Given the description of an element on the screen output the (x, y) to click on. 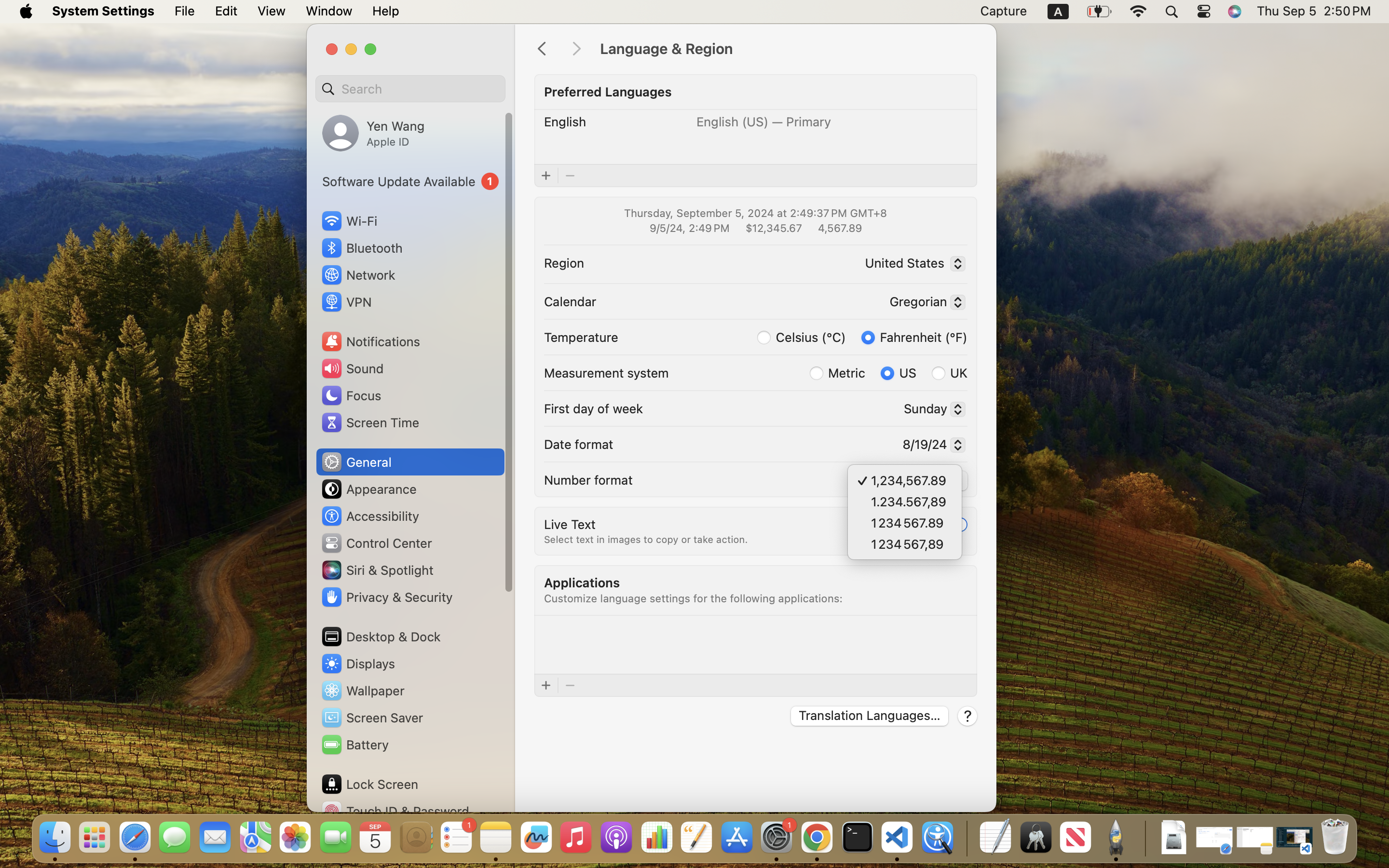
Siri & Spotlight Element type: AXStaticText (376, 569)
English (US) — Primary Element type: AXStaticText (763, 121)
Wi‑Fi Element type: AXStaticText (348, 220)
Accessibility Element type: AXStaticText (369, 515)
Live Text Element type: AXStaticText (569, 523)
